Given the description of an element on the screen output the (x, y) to click on. 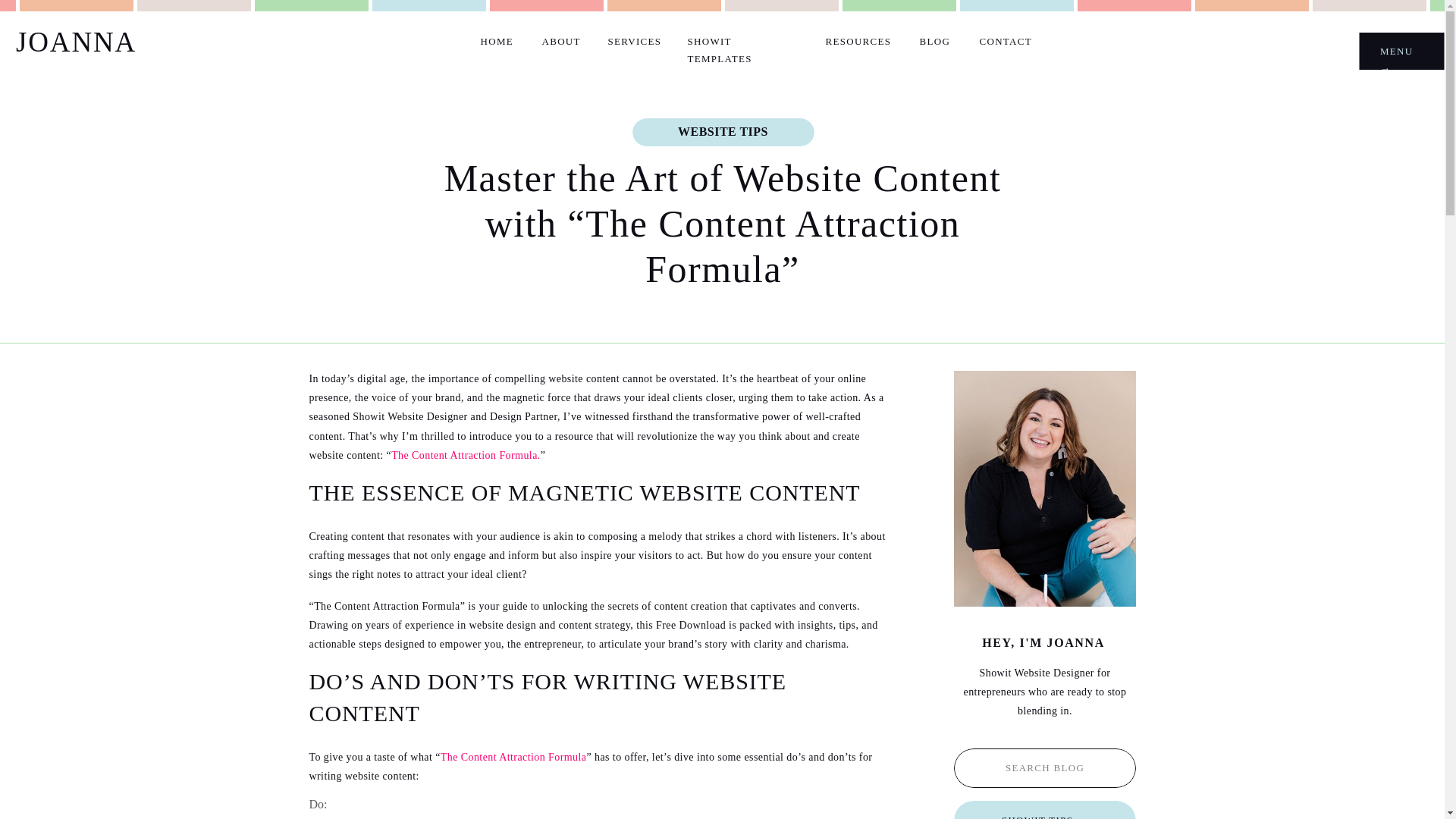
CONTACT (1007, 41)
BLOG (934, 41)
SERVICES (633, 41)
HOME (496, 41)
WEBSITE TIPS (723, 131)
The Content Attraction Formula (513, 756)
SHOWIT TEMPLATES (741, 41)
RESOURCES (857, 41)
ABOUT (559, 41)
The Content Attraction Formula. (465, 455)
